Given the description of an element on the screen output the (x, y) to click on. 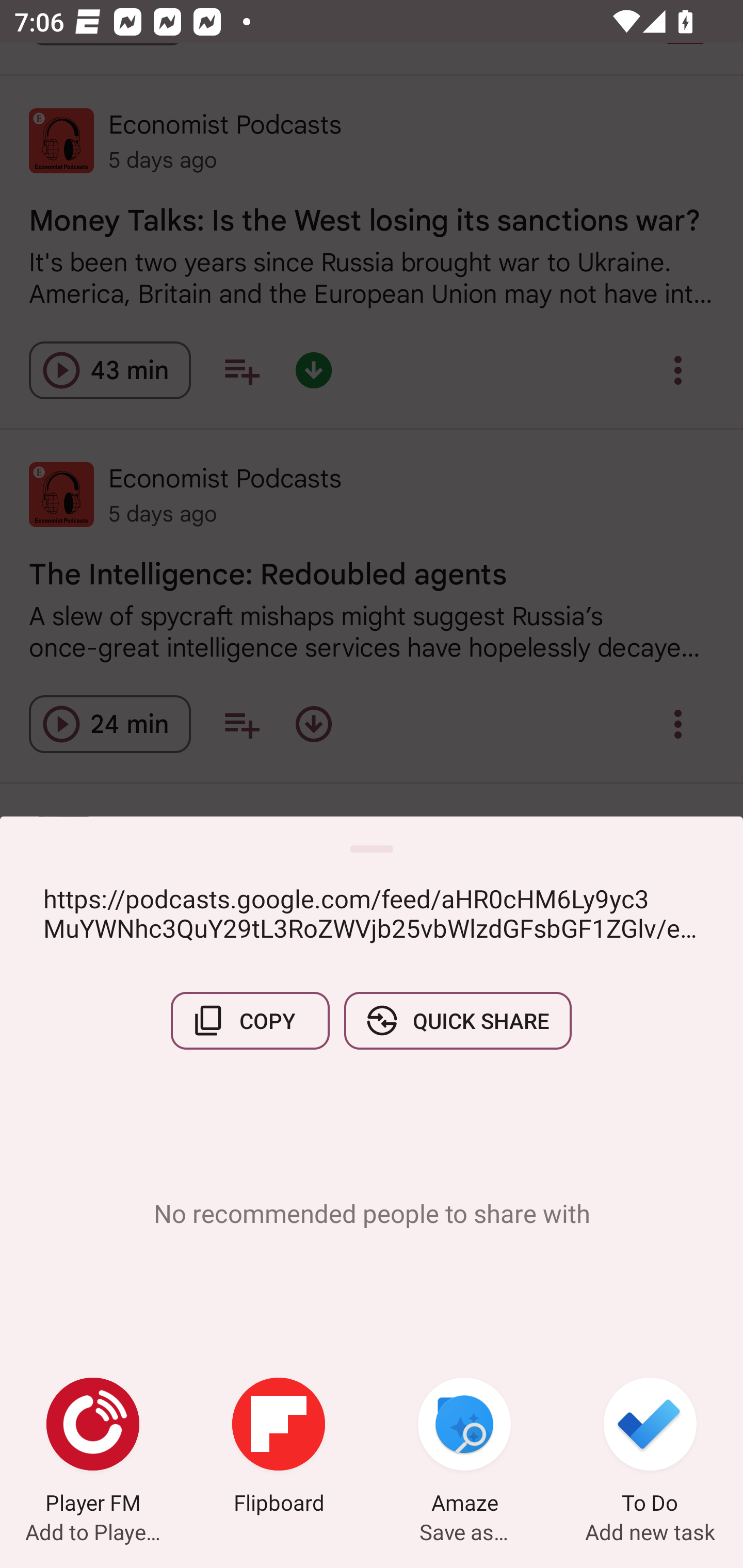
COPY (249, 1020)
QUICK SHARE (457, 1020)
Player FM Add to Player FM (92, 1448)
Flipboard (278, 1448)
Amaze Save as… (464, 1448)
To Do Add new task (650, 1448)
